Given the description of an element on the screen output the (x, y) to click on. 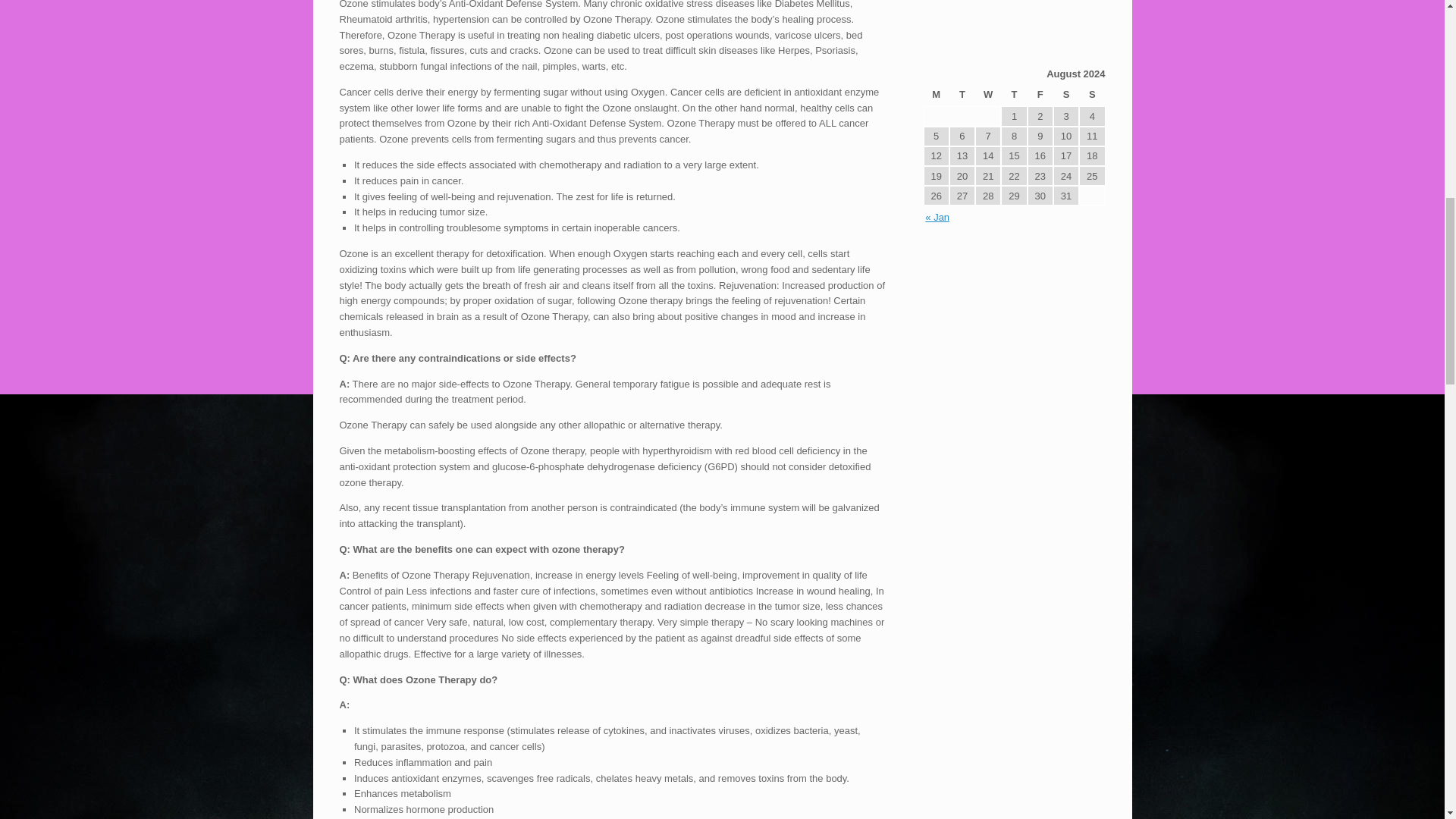
Sunday (1091, 96)
Wednesday (988, 96)
Tuesday (962, 96)
Thursday (1013, 96)
Monday (936, 96)
Friday (1039, 96)
Saturday (1065, 96)
